Given the description of an element on the screen output the (x, y) to click on. 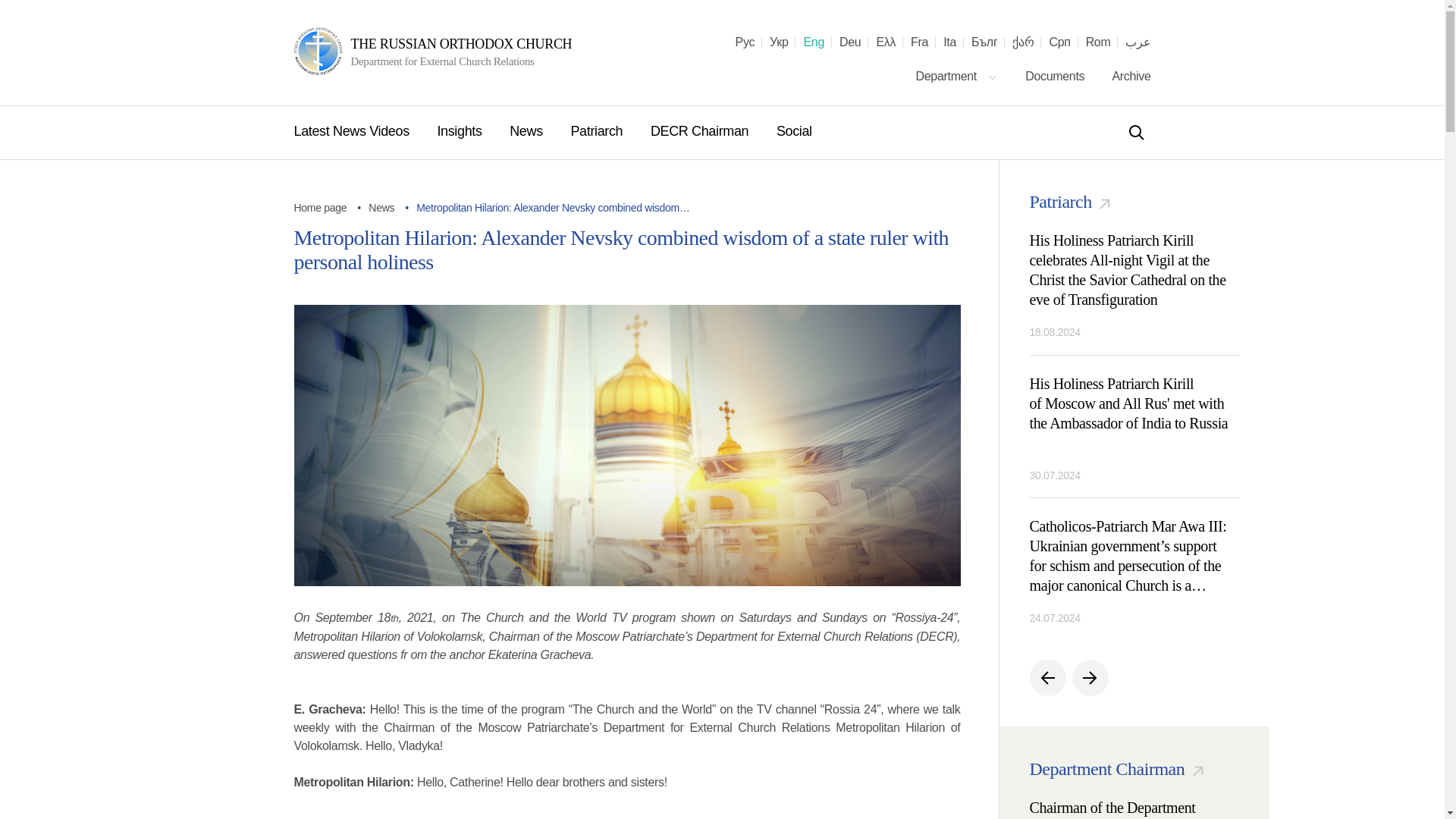
Social (794, 130)
Home page (320, 207)
Insights (460, 130)
Patriarch (598, 130)
Italiano (949, 42)
Ita (949, 42)
Deu (850, 42)
Home page (320, 207)
Archive (1131, 75)
